Given the description of an element on the screen output the (x, y) to click on. 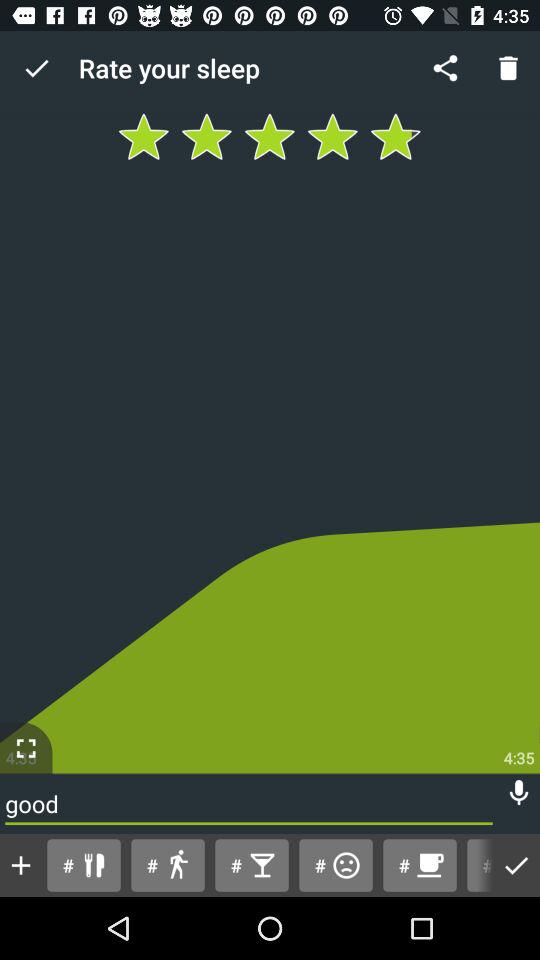
complete (516, 865)
